Given the description of an element on the screen output the (x, y) to click on. 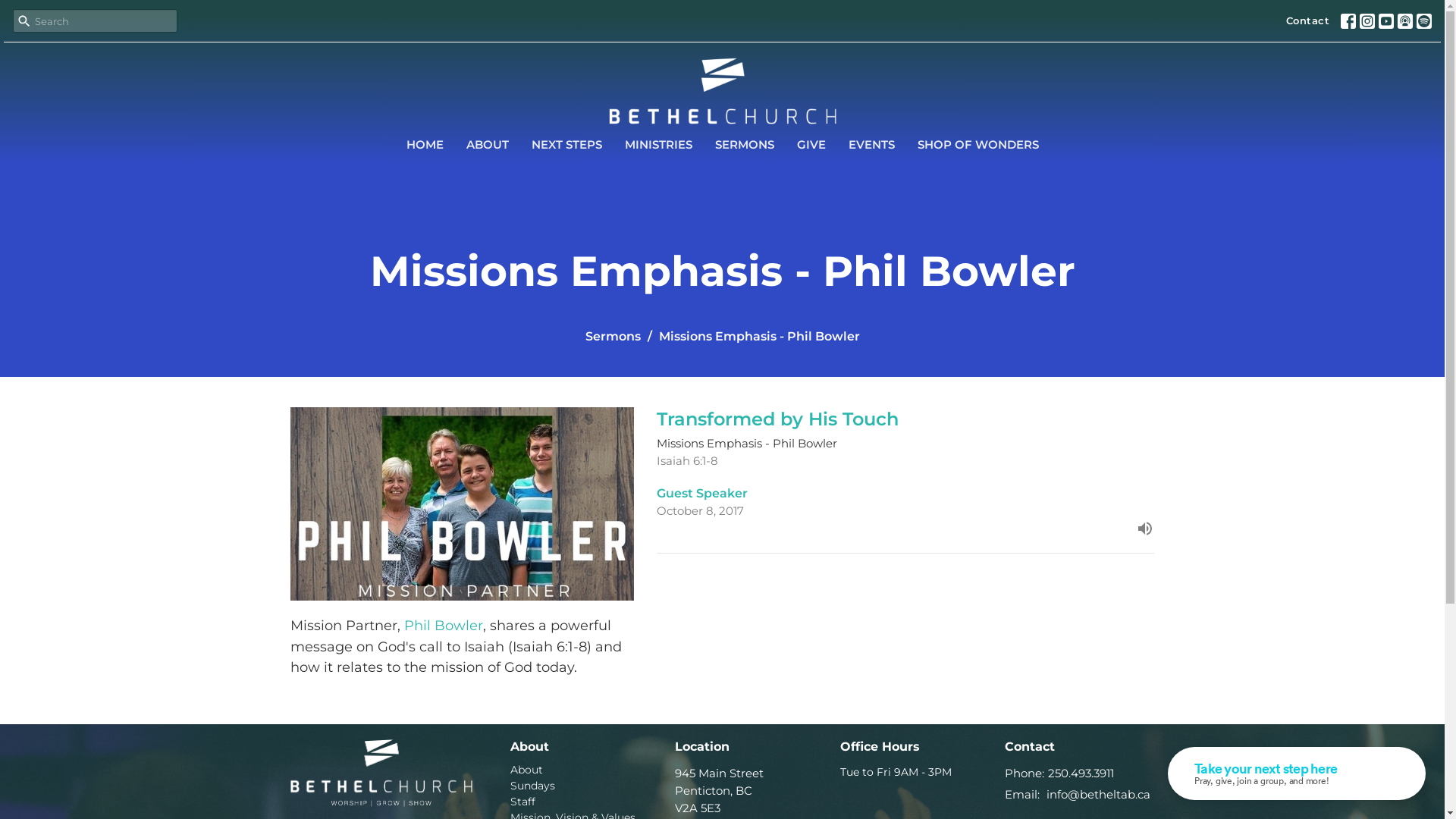
Staff Element type: text (521, 801)
Sundays Element type: text (531, 785)
NEXT STEPS Element type: text (565, 143)
info@betheltab.ca Element type: text (1098, 794)
ABOUT Element type: text (486, 143)
SHOP OF WONDERS Element type: text (977, 143)
Sermons Element type: text (612, 336)
SERMONS Element type: text (743, 143)
EVENTS Element type: text (870, 143)
Phil Bowler Element type: text (442, 625)
GIVE Element type: text (810, 143)
MINISTRIES Element type: text (658, 143)
About Element type: text (525, 769)
250.493.3911 Element type: text (1080, 772)
Contact Element type: text (1307, 20)
HOME Element type: text (424, 143)
